Given the description of an element on the screen output the (x, y) to click on. 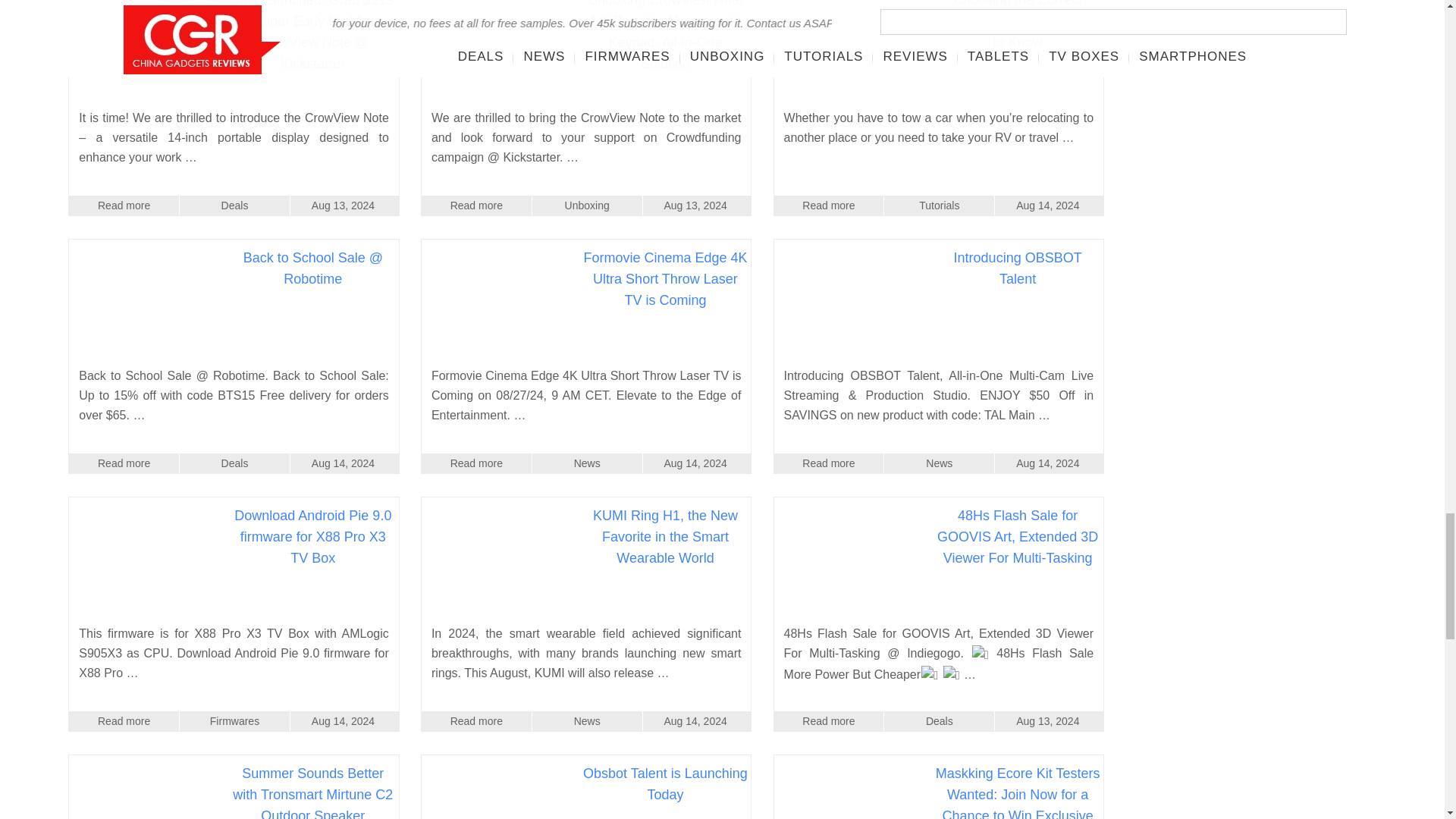
Read more (476, 205)
Deals (234, 205)
Unboxing (587, 205)
Read more (123, 205)
